Given the description of an element on the screen output the (x, y) to click on. 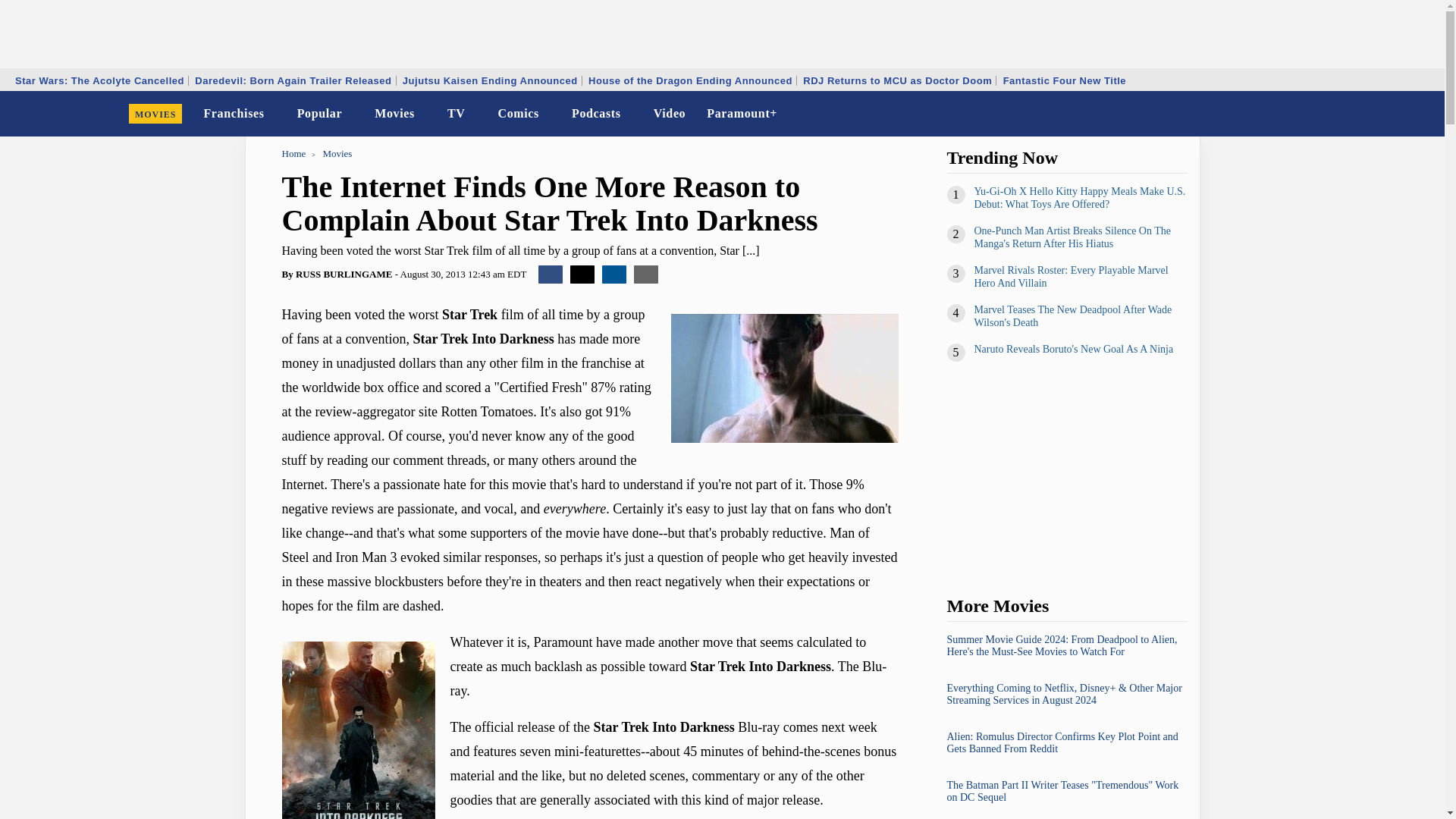
Dark Mode (1394, 113)
MOVIES (155, 113)
Jujutsu Kaisen Ending Announced (489, 80)
Movies (394, 113)
Star Wars: The Acolyte Cancelled (99, 80)
House of the Dragon Ending Announced (690, 80)
Fantastic Four New Title (1064, 80)
Daredevil: Born Again Trailer Released (292, 80)
RDJ Returns to MCU as Doctor Doom (897, 80)
Search (1422, 114)
